Given the description of an element on the screen output the (x, y) to click on. 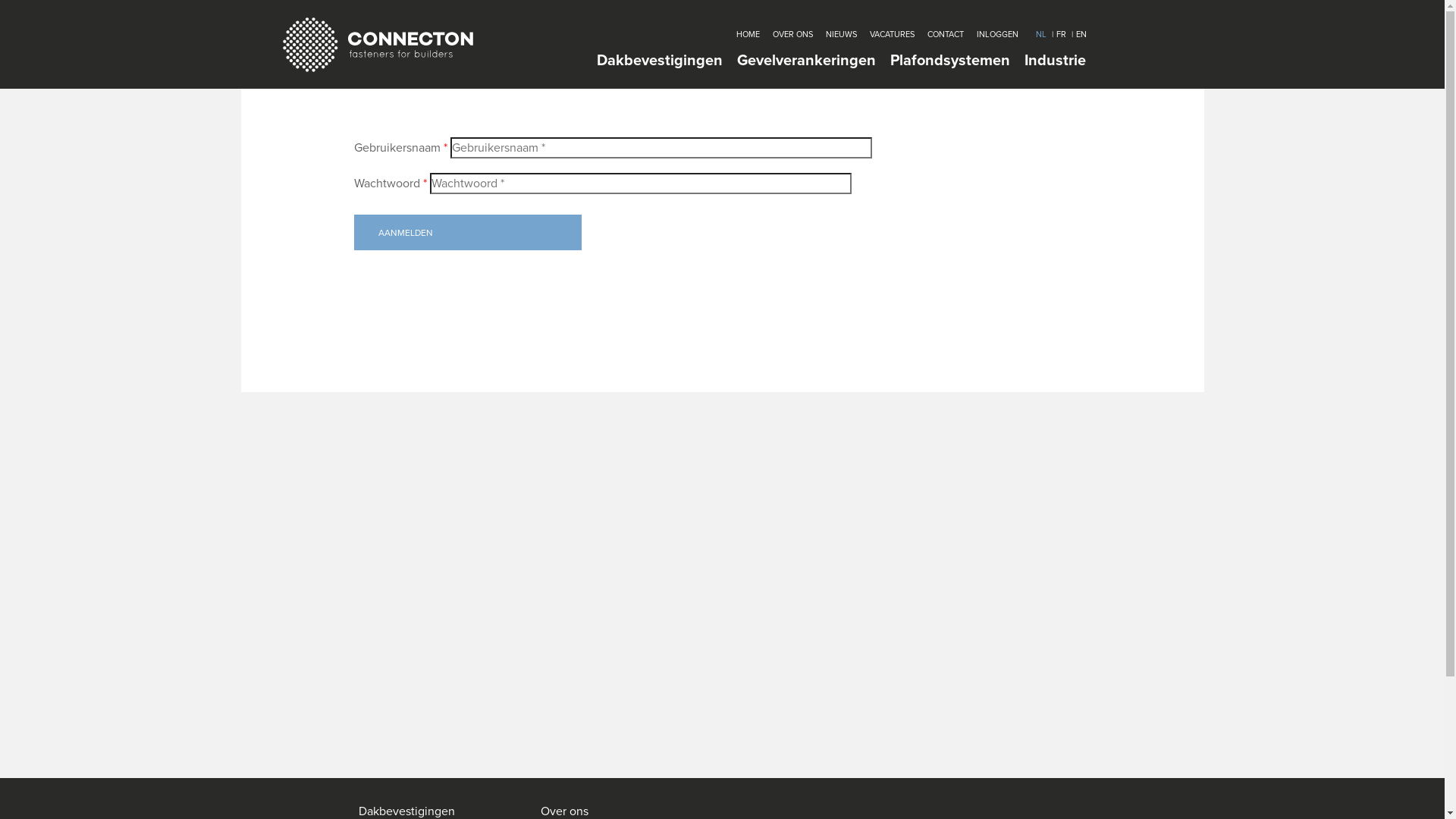
NIEUWS Element type: text (840, 34)
OVER ONS Element type: text (791, 34)
HOME Element type: text (747, 34)
Gevelverankeringen Element type: text (806, 60)
Industrie Element type: text (1054, 60)
CONTACT Element type: text (944, 34)
NL Element type: text (1040, 34)
EN Element type: text (1080, 34)
Plafondsystemen Element type: text (950, 60)
VACATURES Element type: text (891, 34)
Aanmelden Element type: text (466, 232)
Home Element type: hover (385, 44)
Dakbevestigingen Element type: text (658, 60)
FR Element type: text (1060, 34)
INLOGGEN Element type: text (997, 34)
